Given the description of an element on the screen output the (x, y) to click on. 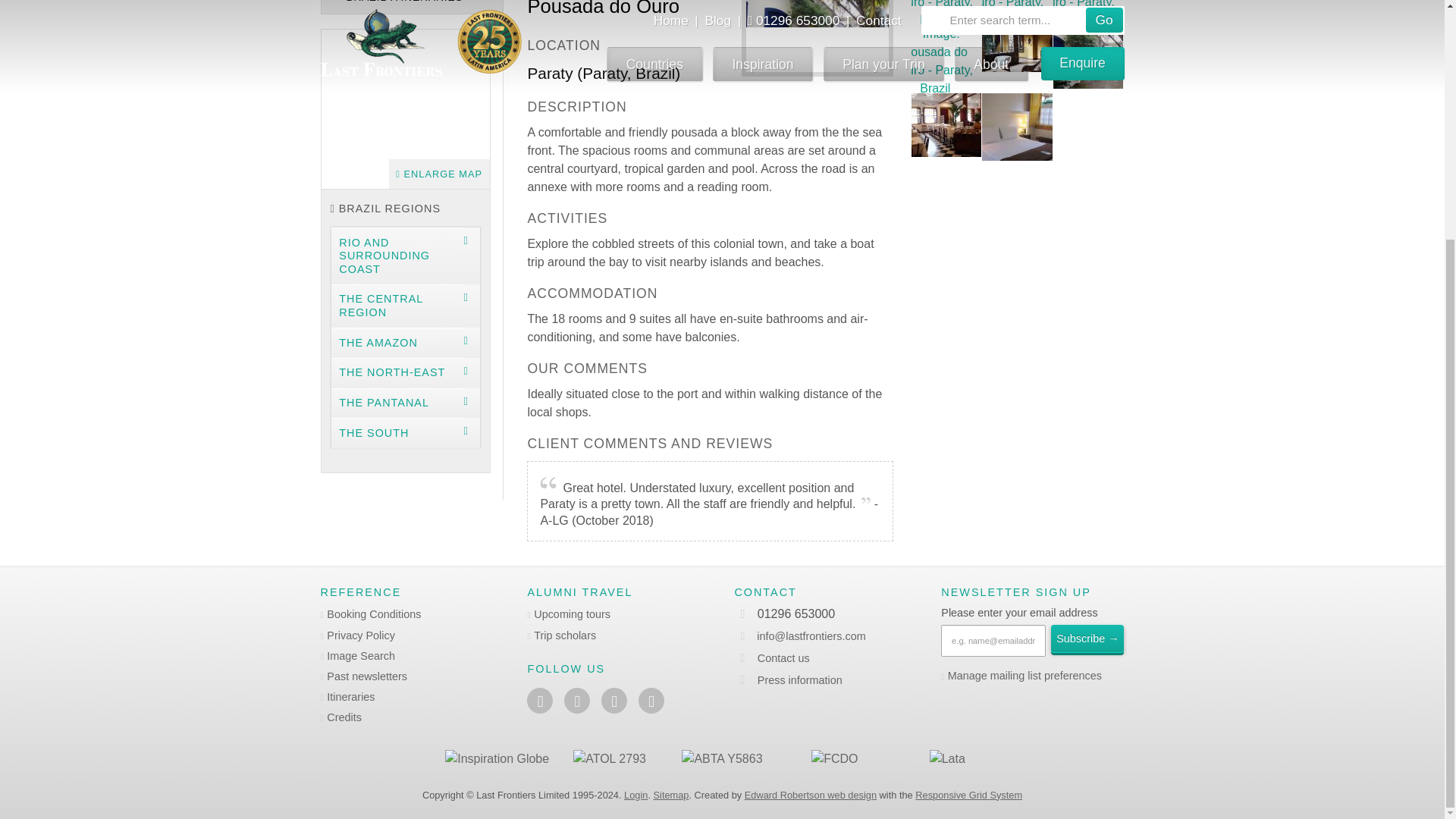
Pousada do Ouro (946, 127)
Pousada do Ouro (946, 12)
Pousada do Ouro (946, 59)
Pousada do Ouro (1016, 127)
Pousada do Ouro (1088, 59)
Brazil region map (404, 108)
Pousada do Ouro (1016, 12)
Pousada do Ouro (1016, 59)
Pousada do Ouro (1088, 12)
